Given the description of an element on the screen output the (x, y) to click on. 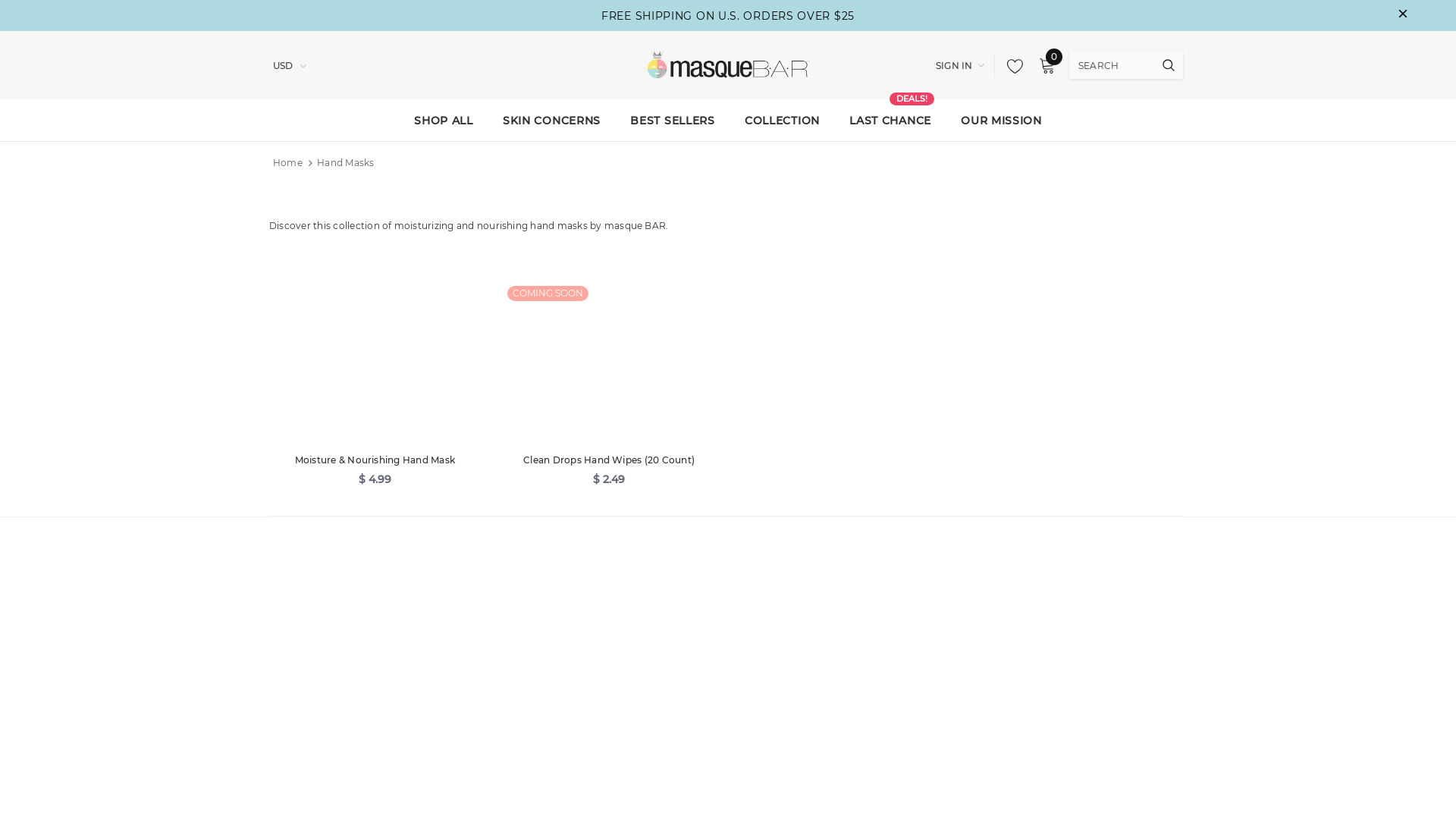
OUR MISSION Element type: text (1000, 120)
Clean Drops Hand Wipes (20 Count) Element type: text (609, 459)
Home Element type: text (287, 162)
Moisture & Nourishing Hand Mask Element type: text (374, 459)
Hand Masks Element type: text (344, 162)
0 Element type: text (1046, 65)
SIGN IN Element type: text (959, 65)
SHOP ALL Element type: text (443, 120)
COLLECTION Element type: text (781, 120)
close Element type: hover (1402, 15)
BEST SELLERS Element type: text (672, 120)
My Wishlists Element type: hover (1010, 65)
LAST CHANCE
DEALS! Element type: text (890, 120)
Logo Element type: hover (727, 65)
SKIN CONCERNS Element type: text (551, 120)
